Given the description of an element on the screen output the (x, y) to click on. 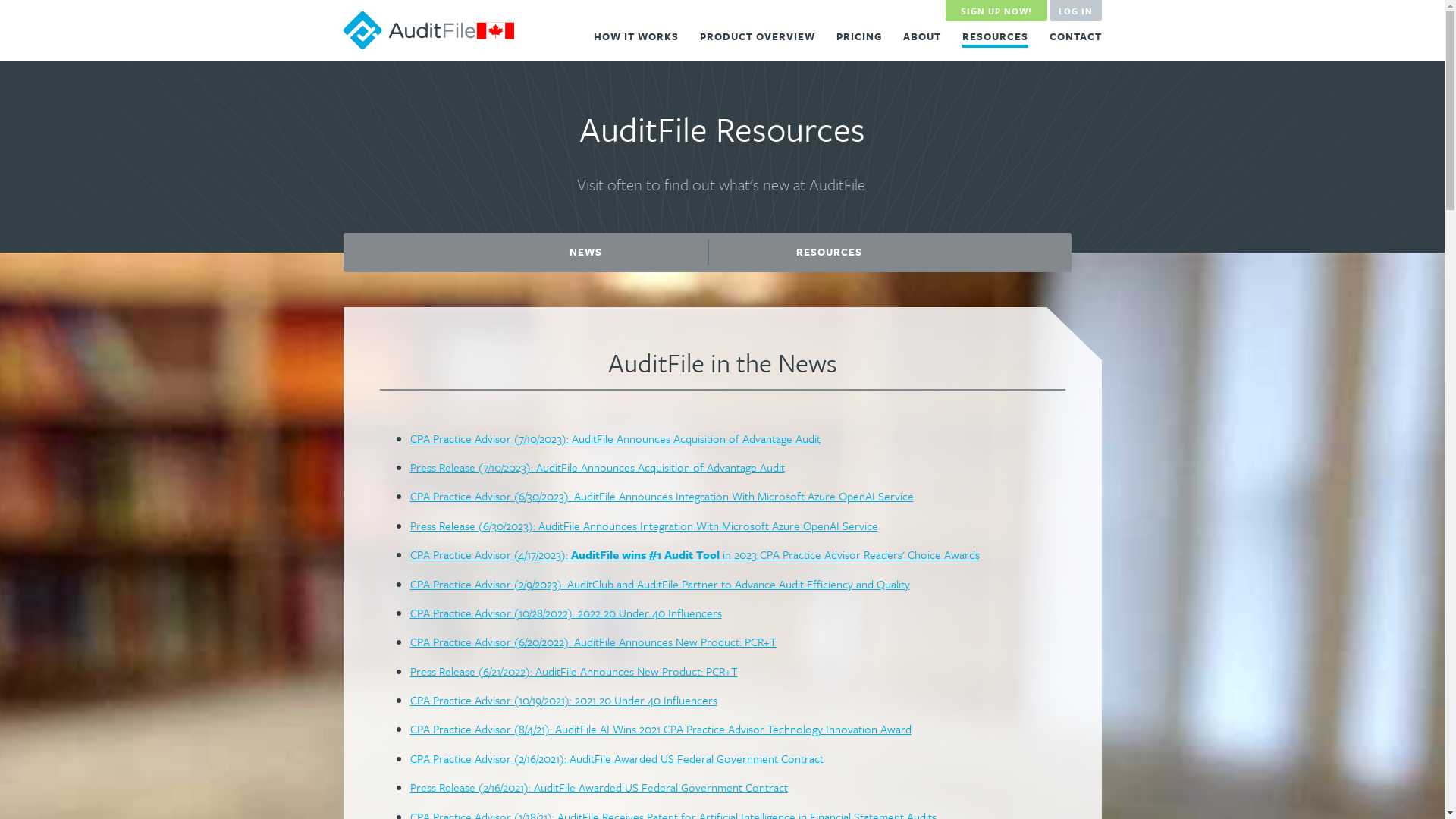
NEWS Element type: text (585, 251)
SIGN UP NOW! Element type: text (995, 10)
AuditFile.ca Element type: text (427, 30)
RESOURCES Element type: text (828, 251)
LOG IN Element type: text (1075, 10)
PRODUCT OVERVIEW Element type: text (756, 36)
RESOURCES Element type: text (994, 37)
HOW IT WORKS Element type: text (635, 36)
PRICING Element type: text (858, 36)
ABOUT Element type: text (921, 36)
CONTACT Element type: text (1075, 36)
